Given the description of an element on the screen output the (x, y) to click on. 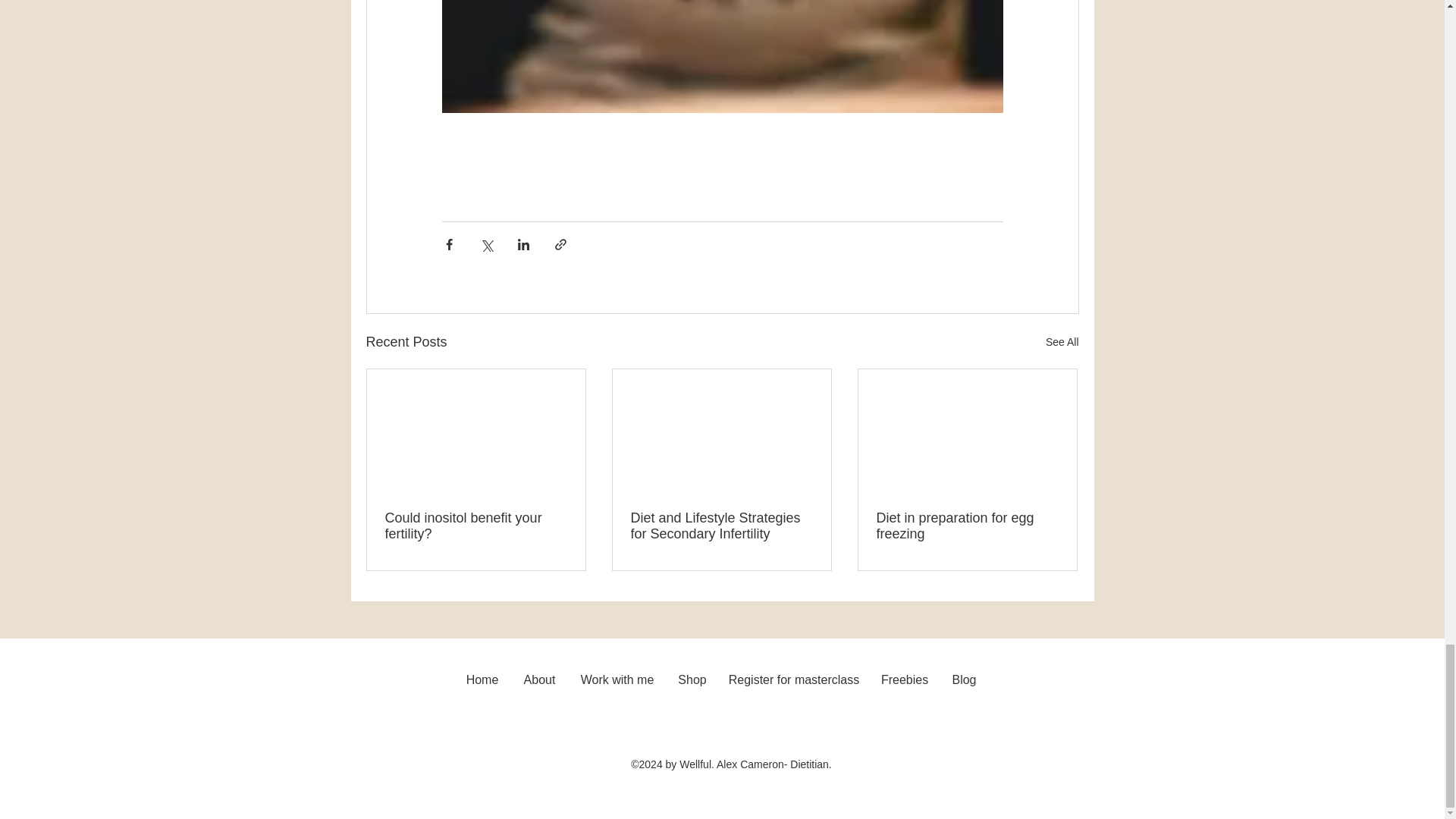
Blog (964, 679)
Diet and Lifestyle Strategies for Secondary Infertility (721, 526)
Freebies (904, 679)
About (540, 679)
Could inositol benefit your fertility? (476, 526)
Register for masterclass (794, 679)
Diet in preparation for egg freezing (967, 526)
Home (481, 679)
Shop (691, 679)
See All (1061, 341)
